Given the description of an element on the screen output the (x, y) to click on. 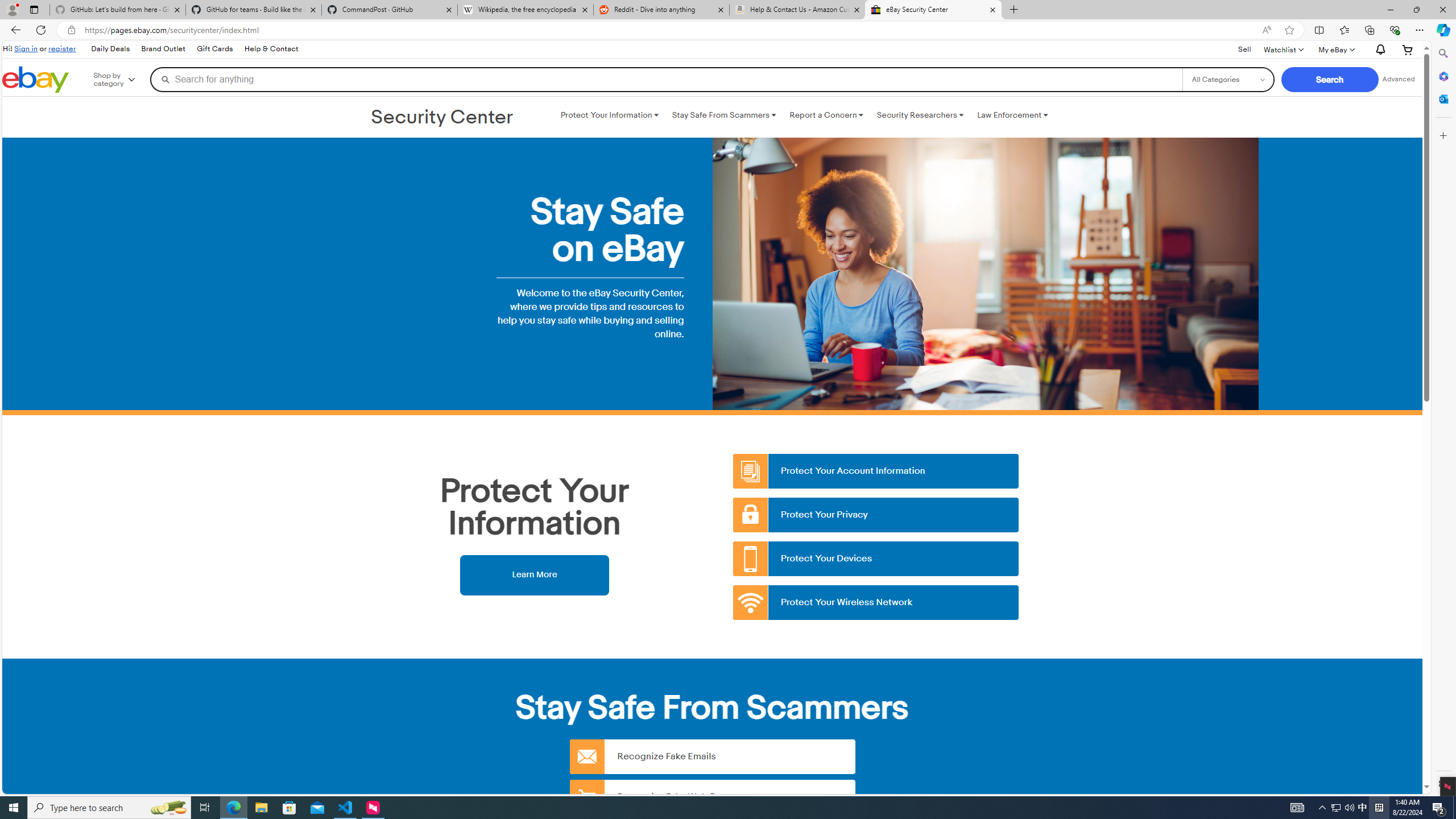
Protect Your Information  (608, 115)
Search for anything (665, 78)
Brand Outlet (163, 49)
Law Enforcement  (1012, 115)
AutomationID: gh-eb-Alerts (1378, 49)
Sell (1244, 49)
Protect Your Wireless Network (876, 602)
Sell (1244, 49)
Close Outlook pane (1442, 98)
